Given the description of an element on the screen output the (x, y) to click on. 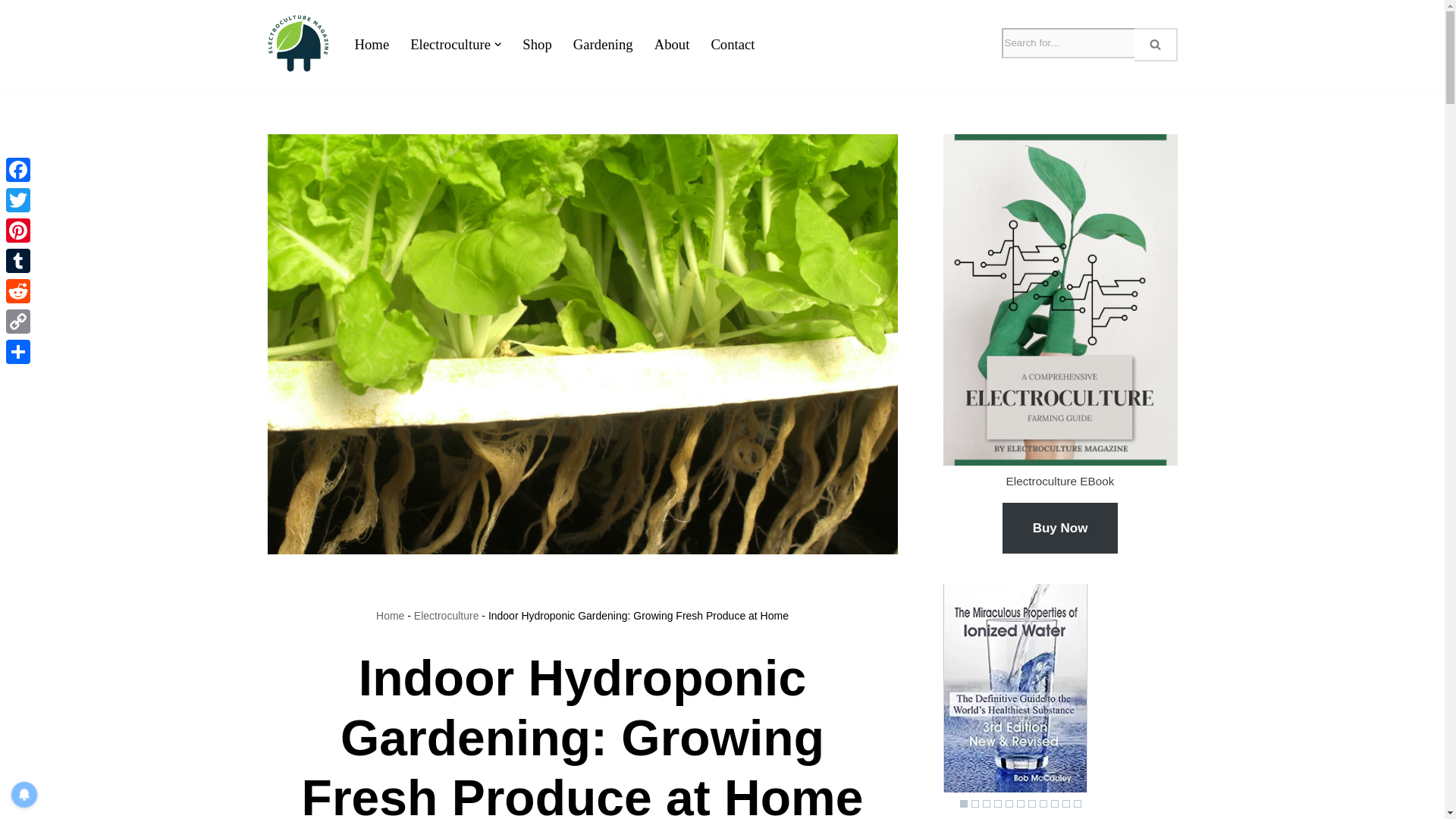
Skip to content (11, 31)
Electroculture (450, 44)
About (671, 44)
Shop (536, 44)
Home (372, 44)
Electroculture (446, 615)
Home (389, 615)
Gardening (603, 44)
Contact (732, 44)
